Given the description of an element on the screen output the (x, y) to click on. 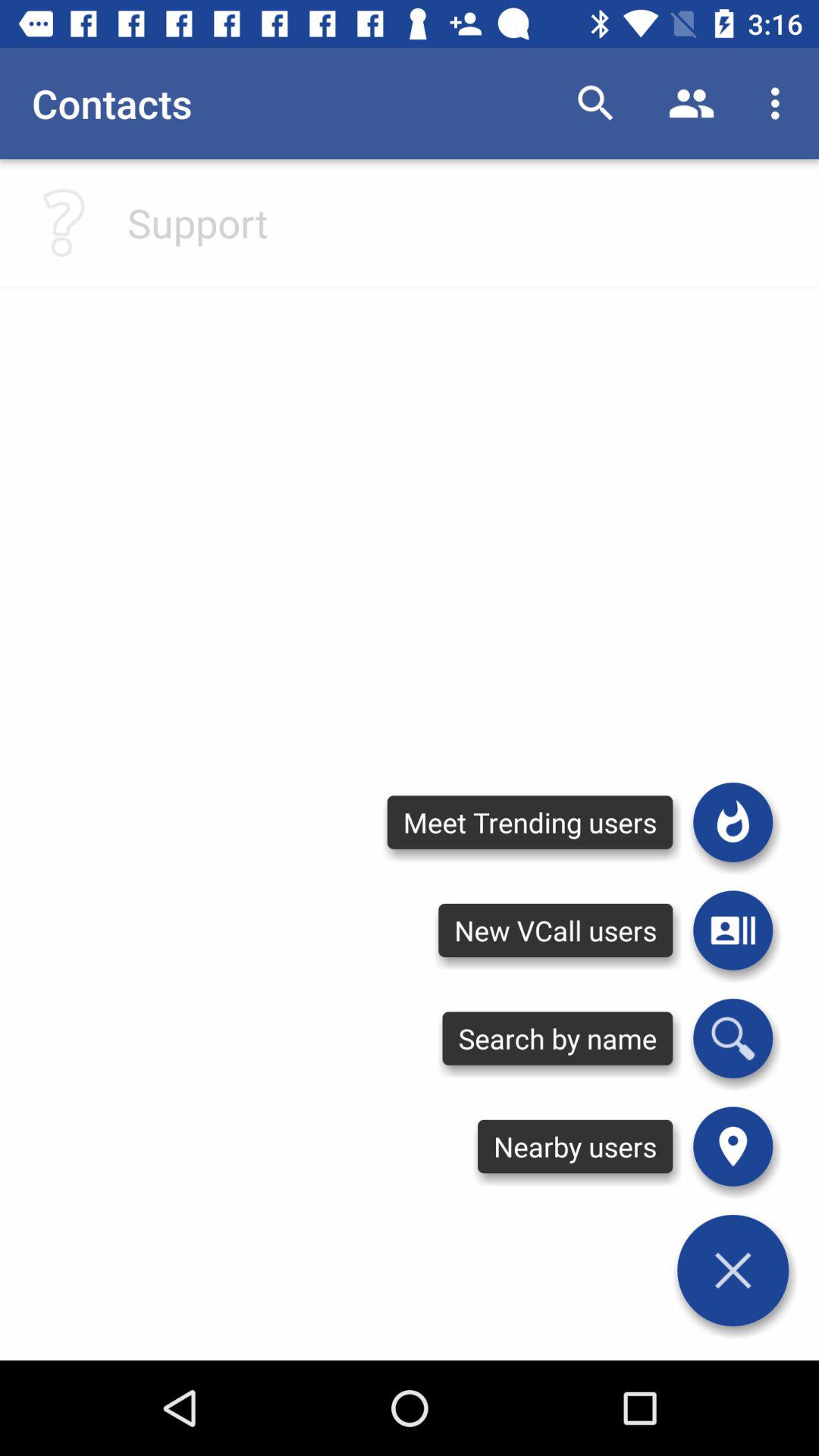
flip until the new vcall users icon (555, 930)
